Given the description of an element on the screen output the (x, y) to click on. 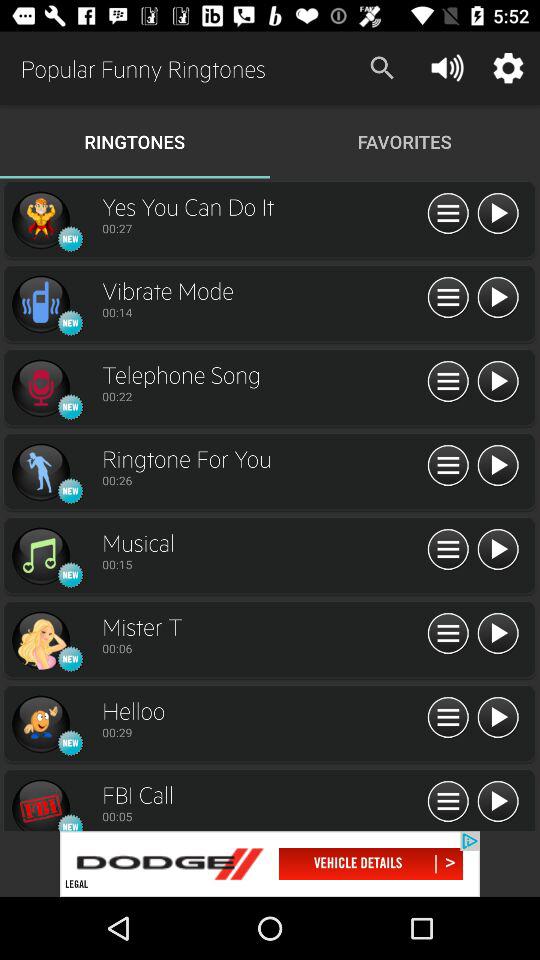
open menu (447, 801)
